Given the description of an element on the screen output the (x, y) to click on. 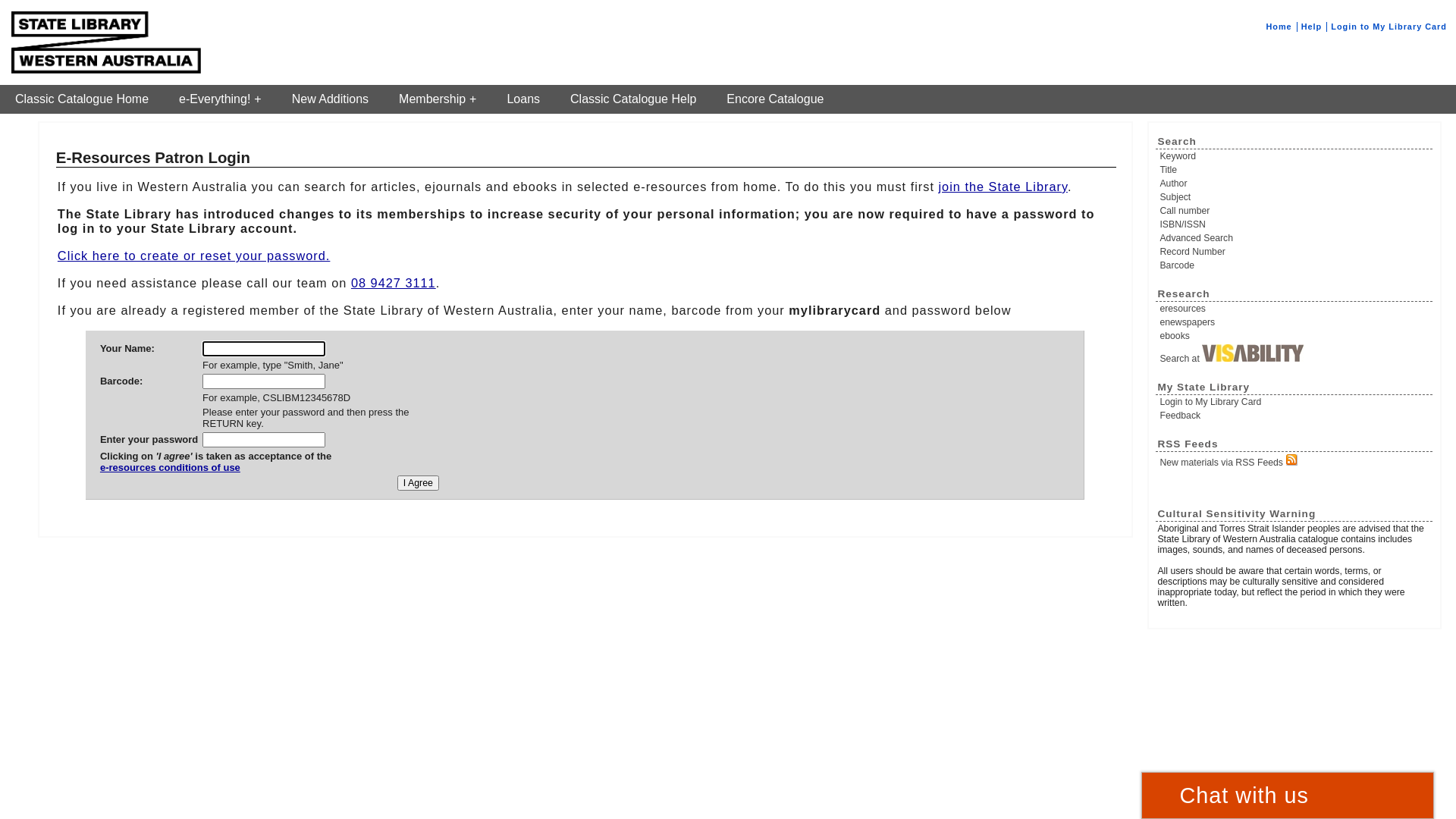
Author Element type: text (1294, 183)
Home Element type: text (1278, 26)
Call number Element type: text (1294, 210)
New Additions Element type: text (329, 98)
join the State Library Element type: text (1002, 186)
Record Number Element type: text (1294, 251)
Search at Element type: text (1294, 354)
Encore Catalogue Element type: text (774, 98)
e-resources conditions of use Element type: text (215, 472)
I Agree Element type: text (418, 482)
New materials via RSS Feeds Element type: text (1294, 460)
enewspapers Element type: text (1294, 321)
Classic Catalogue Help Element type: text (633, 98)
ISBN/ISSN Element type: text (1294, 224)
Help Element type: text (1311, 26)
Feedback Element type: text (1294, 415)
Classic Catalogue Home Element type: text (81, 98)
eresources Element type: text (1294, 308)
Barcode Element type: text (1294, 265)
Login to My Library Card Element type: text (1294, 401)
Title Element type: text (1294, 169)
Subject Element type: text (1294, 196)
Membership Element type: text (437, 98)
08 9427 3111 Element type: text (393, 282)
Login to My Library Card Element type: text (1388, 26)
Chat with us Element type: text (1287, 795)
Loans Element type: text (523, 98)
Keyword Element type: text (1294, 155)
e-Everything! Element type: text (219, 98)
Advanced Search Element type: text (1294, 237)
Click here to create or reset your password. Element type: text (193, 255)
ebooks Element type: text (1294, 335)
